Given the description of an element on the screen output the (x, y) to click on. 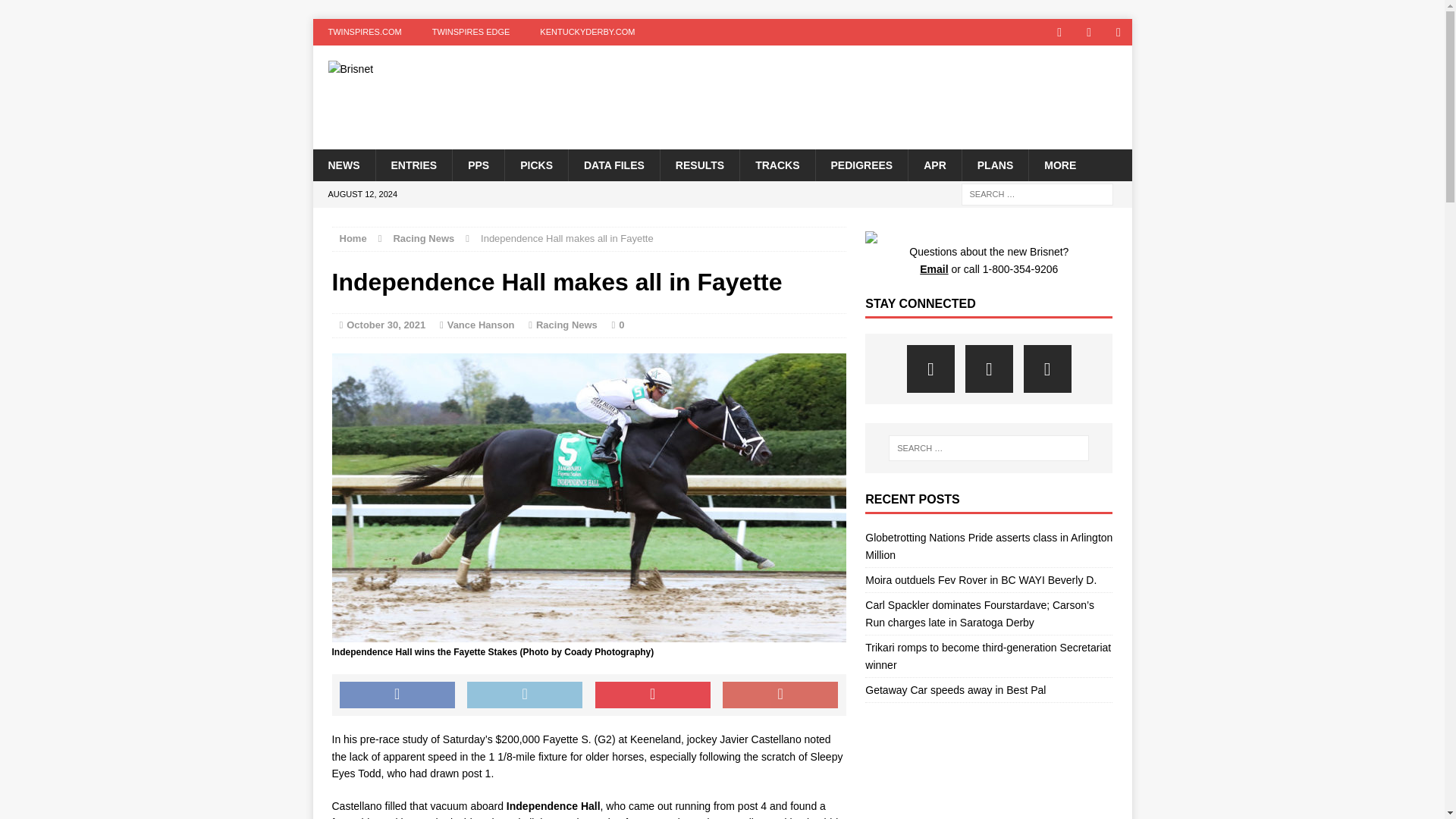
TWINSPIRES.COM (364, 31)
APR (933, 164)
Brisnet (442, 68)
NEWS (343, 164)
MORE (1058, 164)
PLANS (993, 164)
KENTUCKYDERBY.COM (586, 31)
Pin This Post (652, 695)
RESULTS (699, 164)
